Given the description of an element on the screen output the (x, y) to click on. 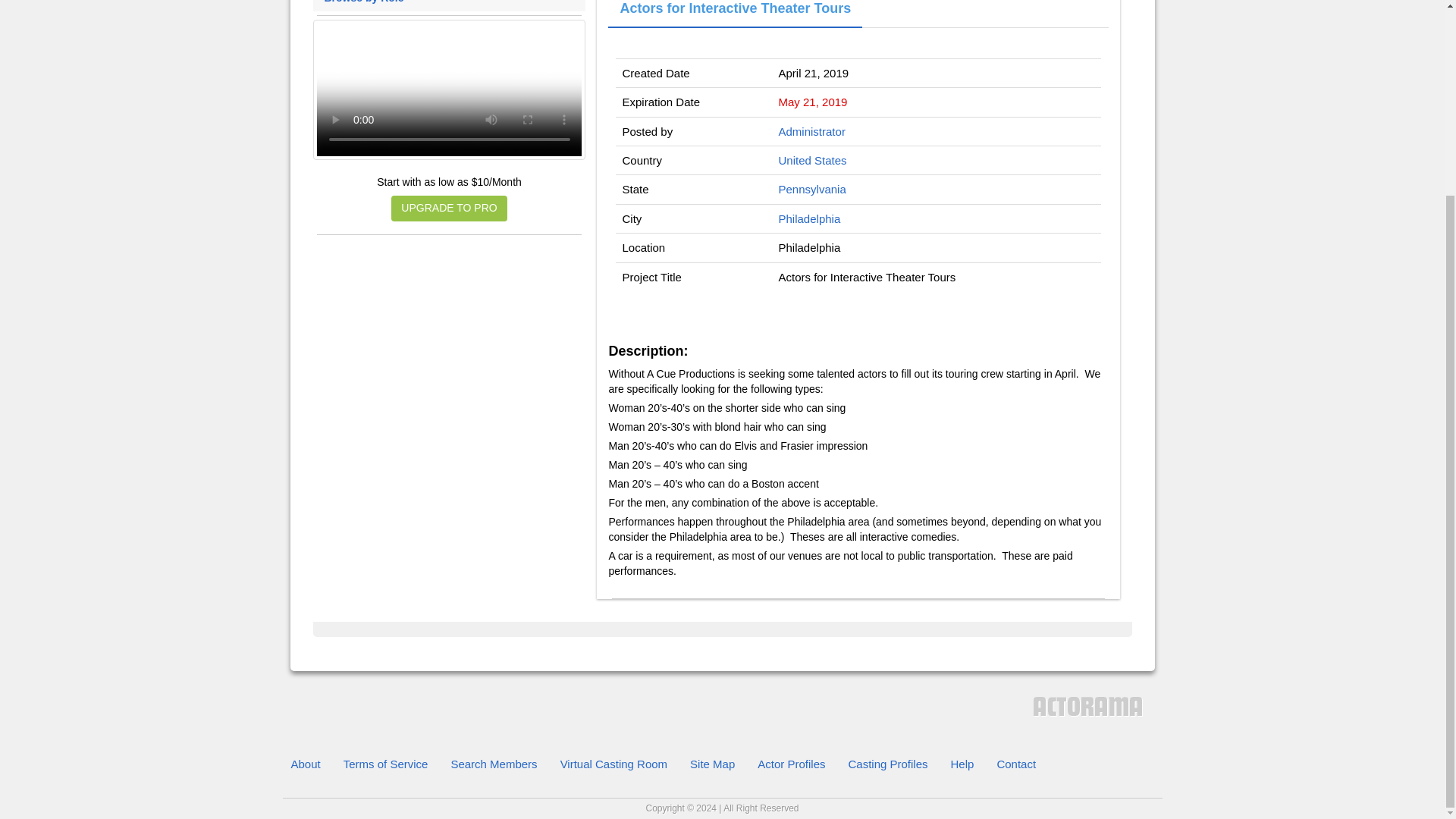
Actor Profiles (790, 763)
Pennsylvania (811, 188)
Actors for Interactive Theater Tours (734, 13)
United States (812, 160)
Virtual Casting Room (613, 763)
About (305, 763)
Search Members (493, 763)
Help (962, 763)
Philadelphia (809, 218)
UPGRADE TO PRO (448, 208)
Administrator (811, 131)
Site Map (711, 763)
Browse by Role (449, 2)
UPGRADE TO PRO (449, 208)
Terms of Service (385, 763)
